Given the description of an element on the screen output the (x, y) to click on. 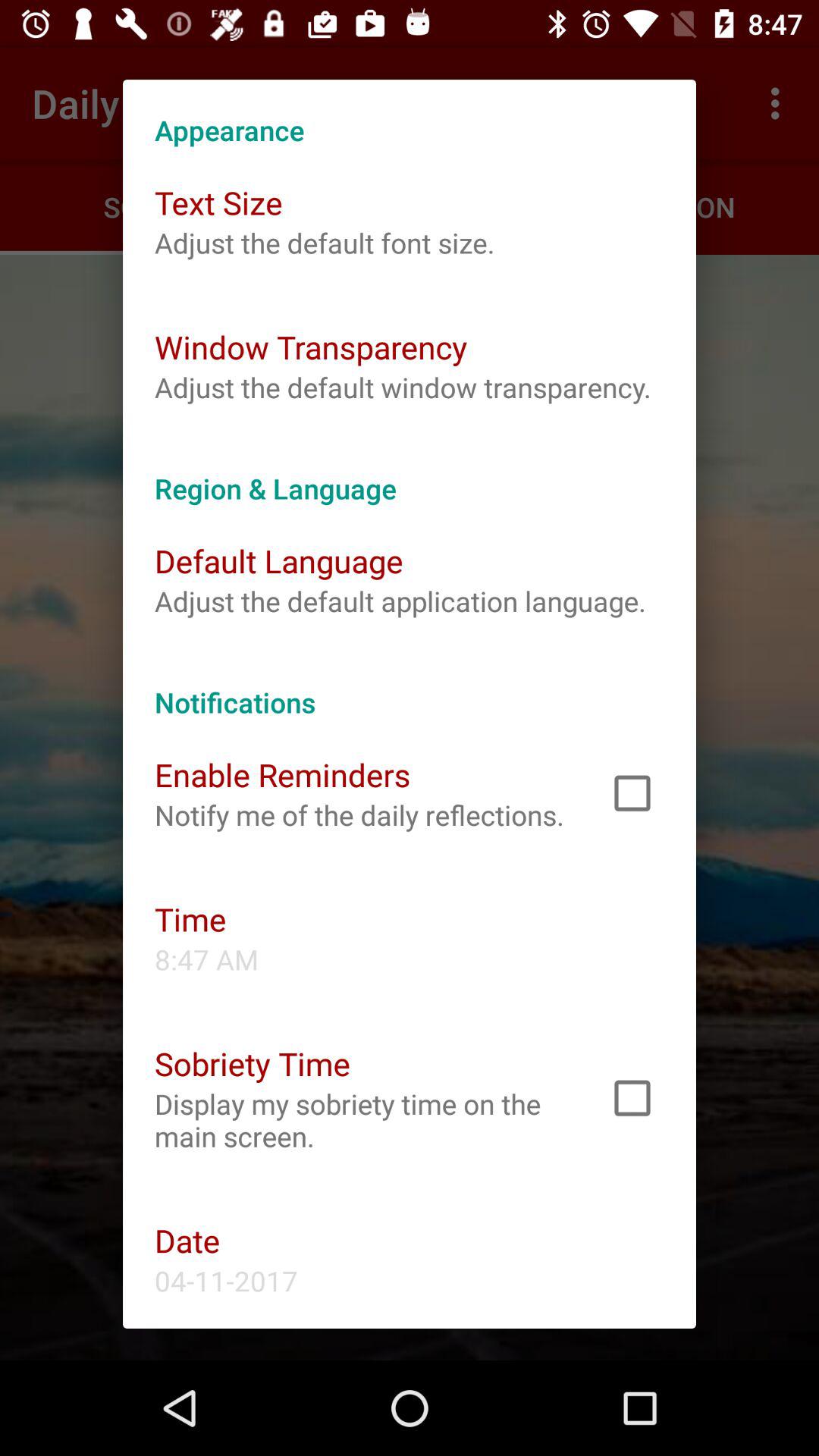
swipe to notifications (409, 686)
